Given the description of an element on the screen output the (x, y) to click on. 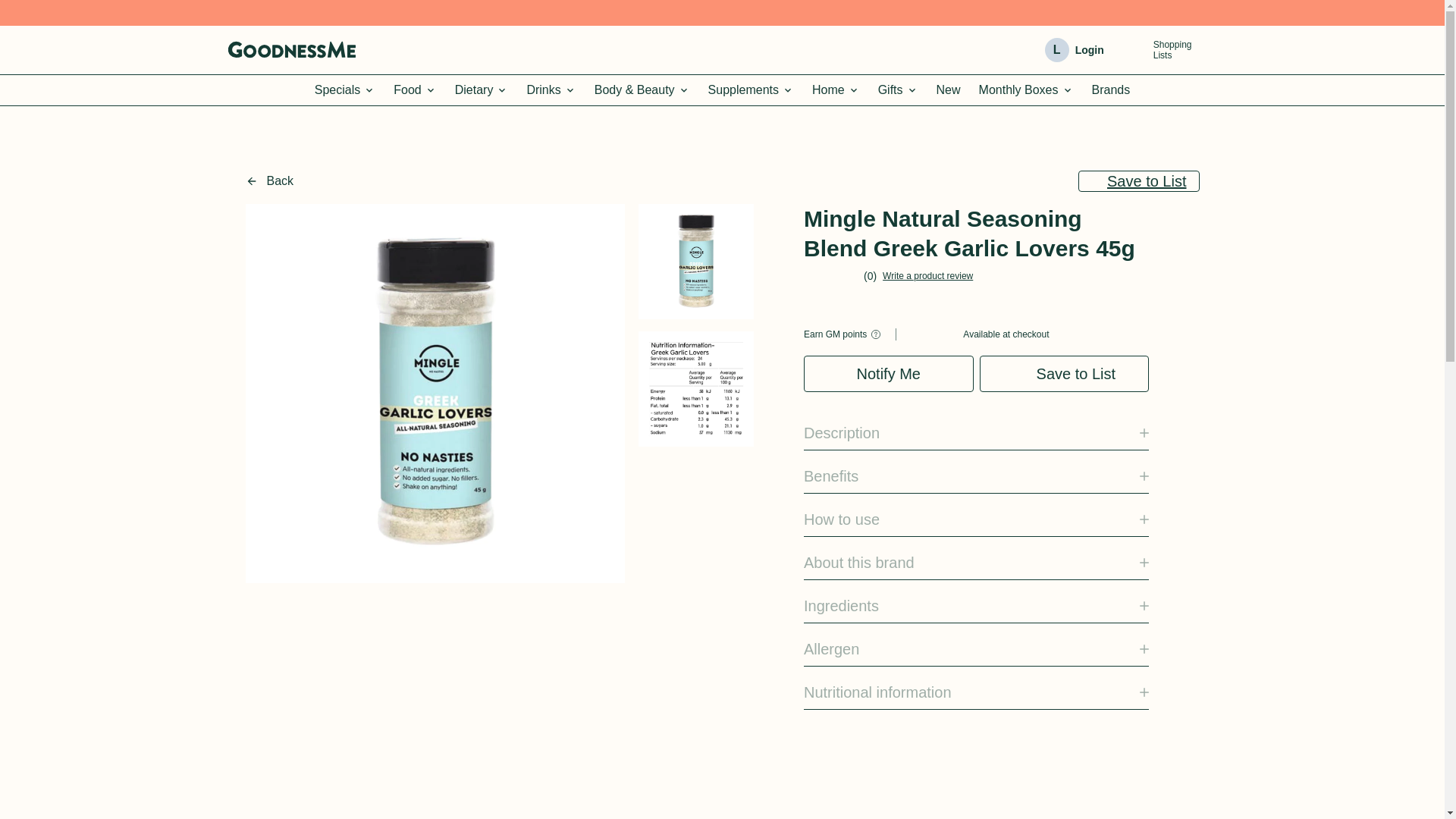
Food (1158, 49)
Manage account (414, 90)
Food (1089, 50)
Specials (414, 90)
Specials (344, 90)
Open Shopping Lists (344, 90)
Login (1134, 49)
